Given the description of an element on the screen output the (x, y) to click on. 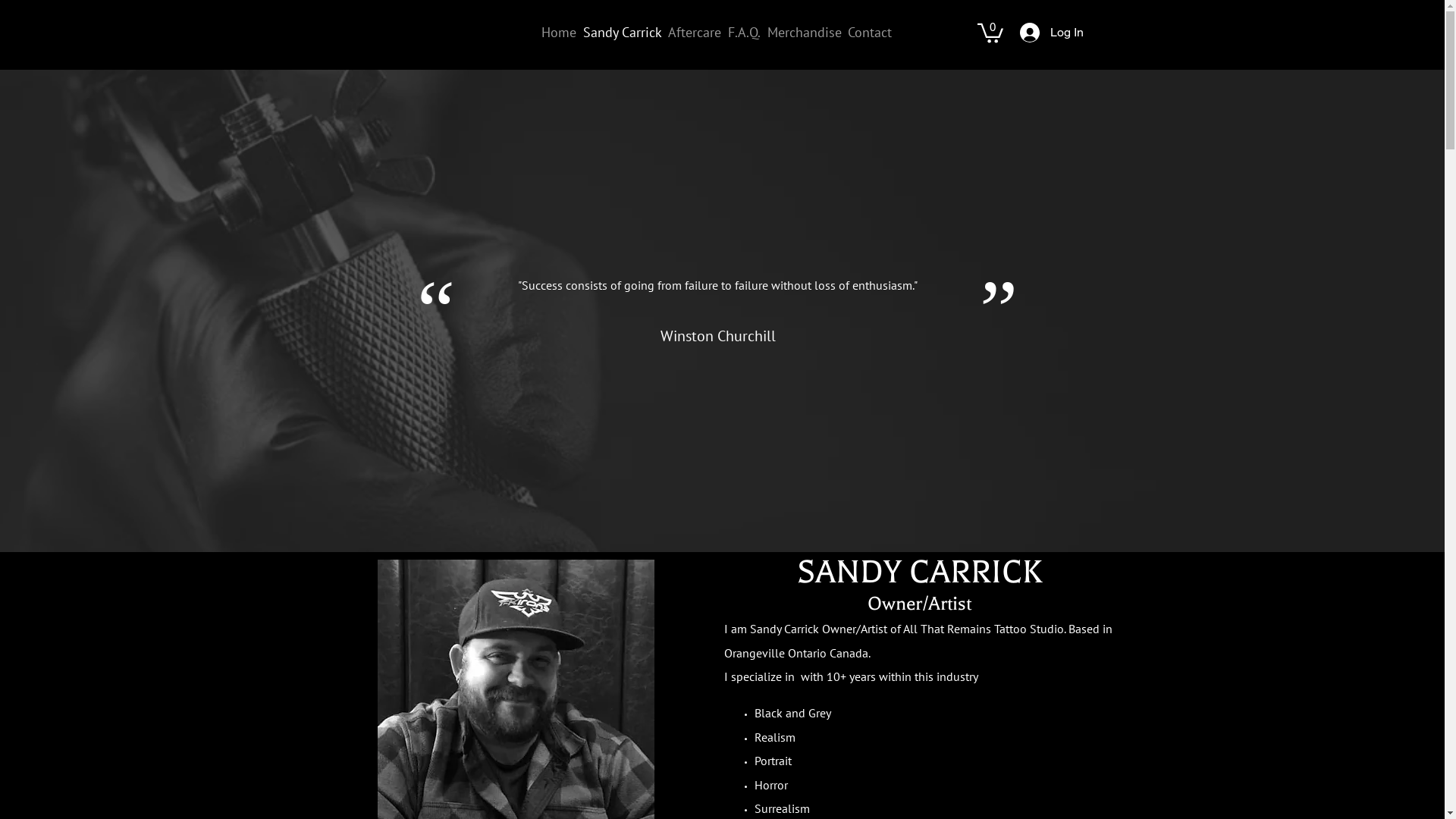
Home Element type: text (559, 32)
F.A.Q. Element type: text (744, 32)
Merchandise Element type: text (803, 32)
0 Element type: text (989, 32)
Log In Element type: text (1050, 32)
Sandy Carrick Element type: text (622, 32)
Contact Element type: text (869, 32)
Aftercare Element type: text (694, 32)
